Given the description of an element on the screen output the (x, y) to click on. 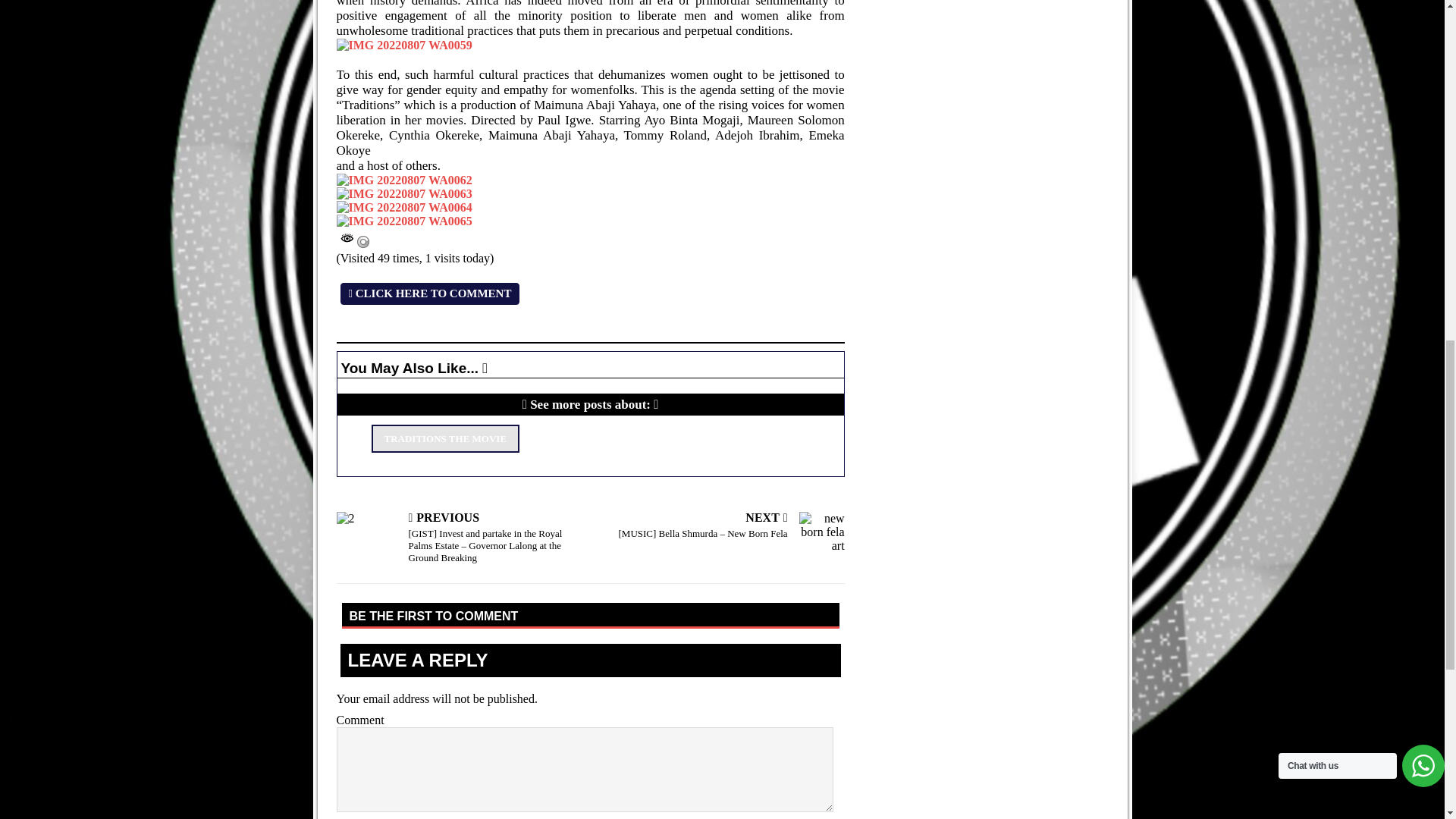
TRADITIONS THE MOVIE (445, 438)
CLICK HERE TO COMMENT (429, 293)
